Given the description of an element on the screen output the (x, y) to click on. 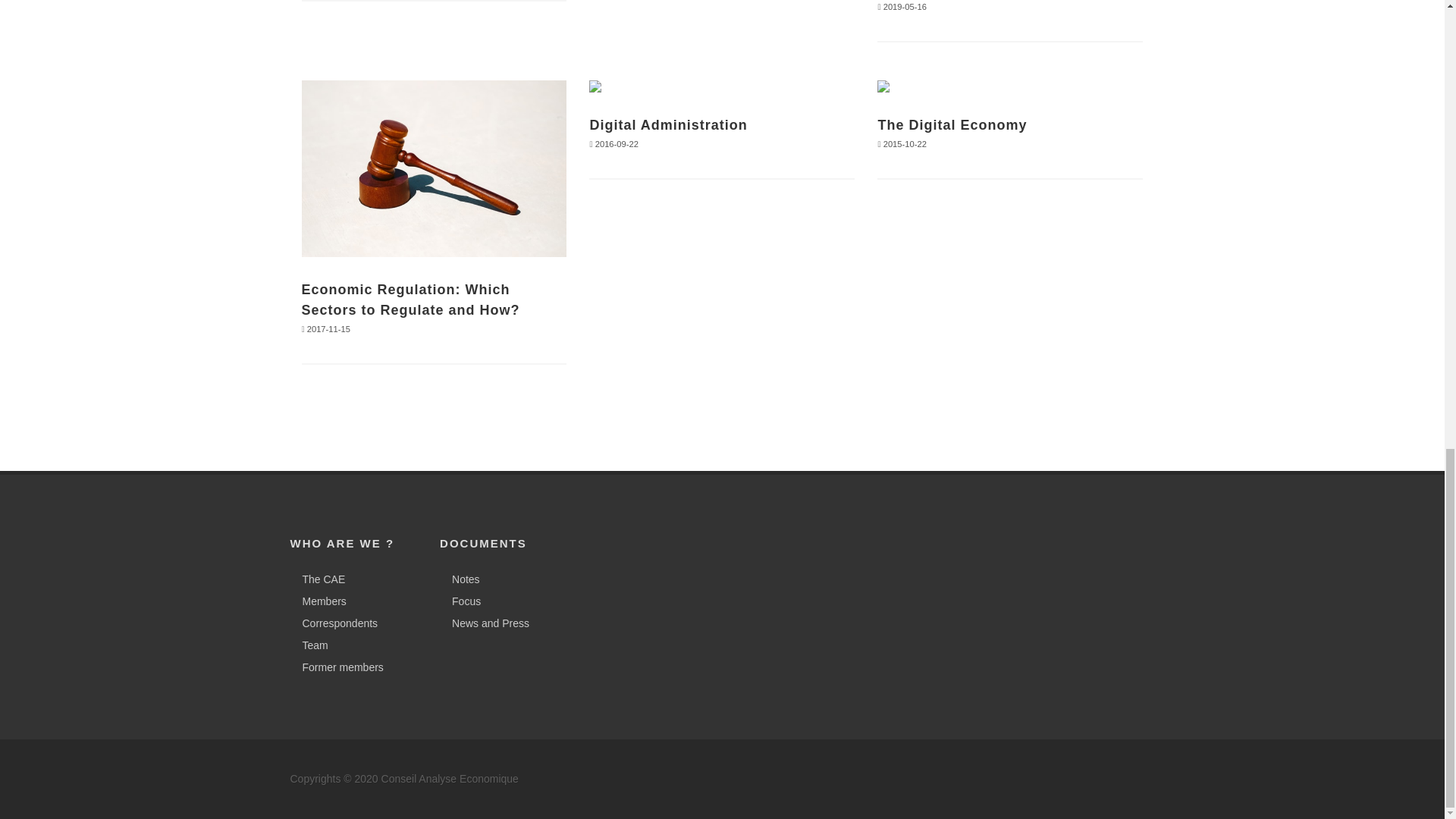
Former members (338, 667)
The CAE (319, 579)
Team (311, 645)
Correspondents (336, 623)
Members (319, 601)
Notes (461, 579)
The Digital Economy (951, 124)
Digital Administration (667, 124)
Economic Regulation: Which Sectors to Regulate and How? (410, 299)
